Given the description of an element on the screen output the (x, y) to click on. 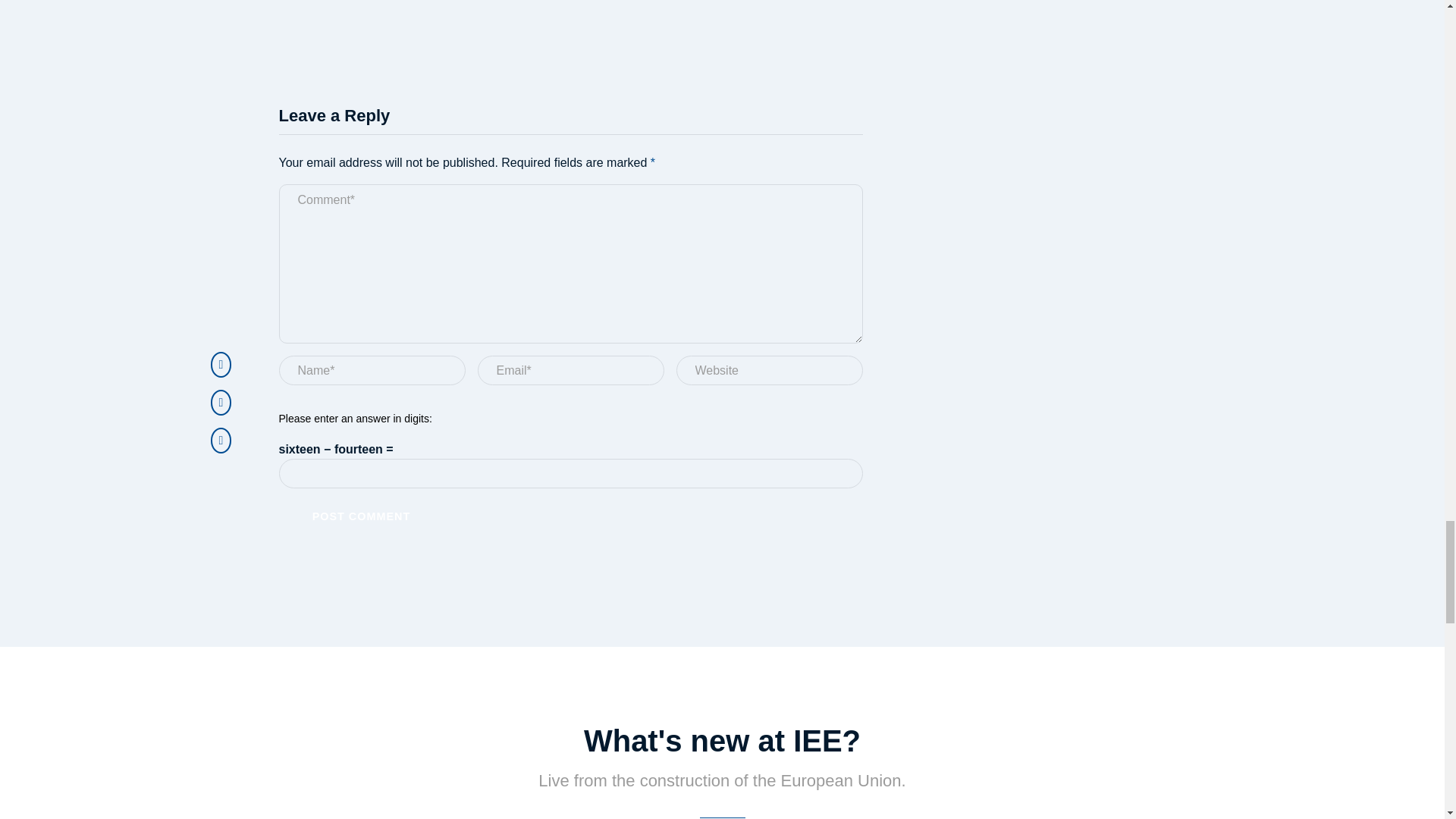
Post Comment (361, 515)
